Given the description of an element on the screen output the (x, y) to click on. 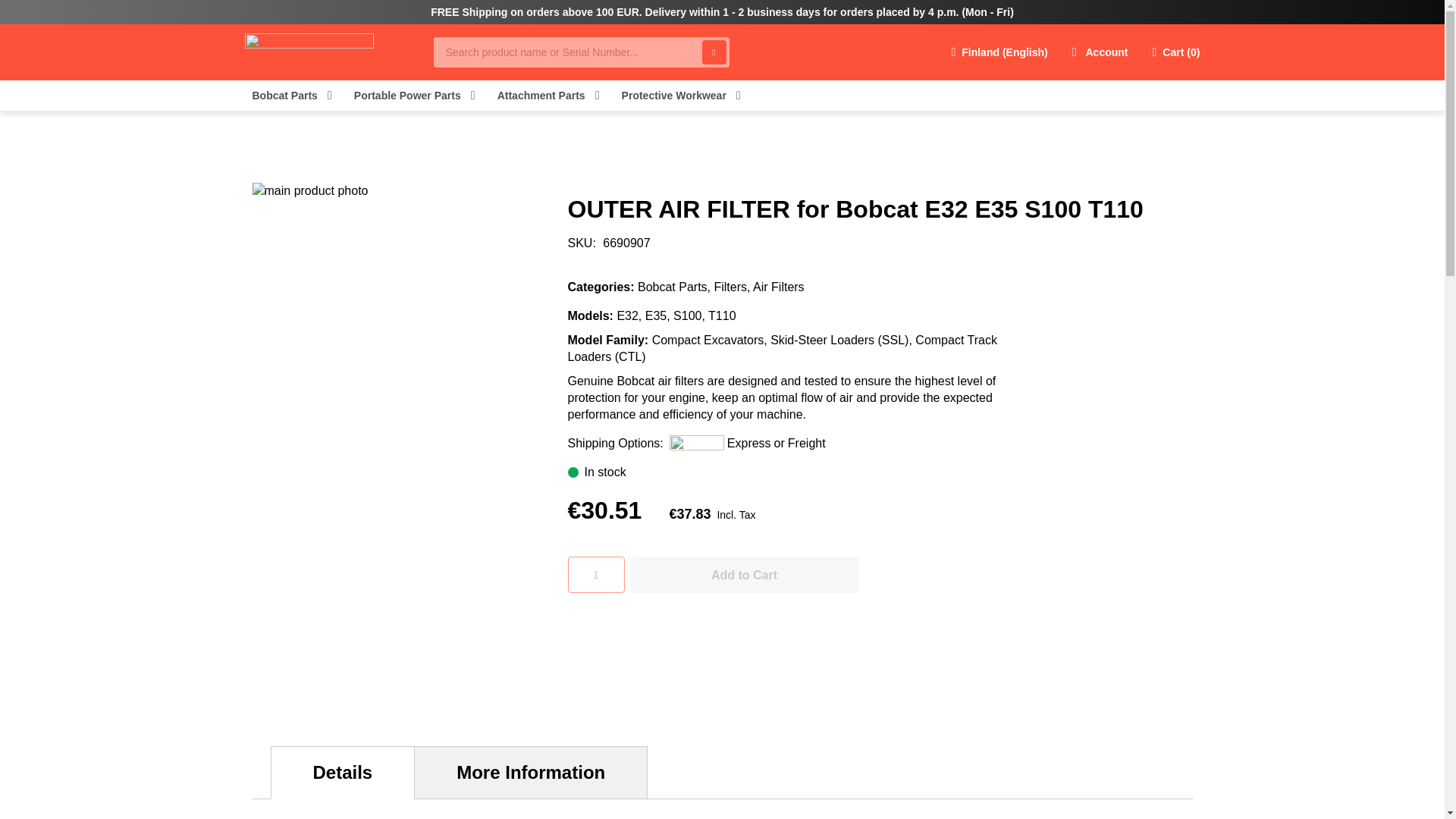
Account (1099, 52)
Availability (870, 472)
Qty (595, 574)
Search (713, 52)
Bobcat Parts (284, 95)
Search (713, 52)
1 (595, 574)
Add to Cart (744, 574)
